Given the description of an element on the screen output the (x, y) to click on. 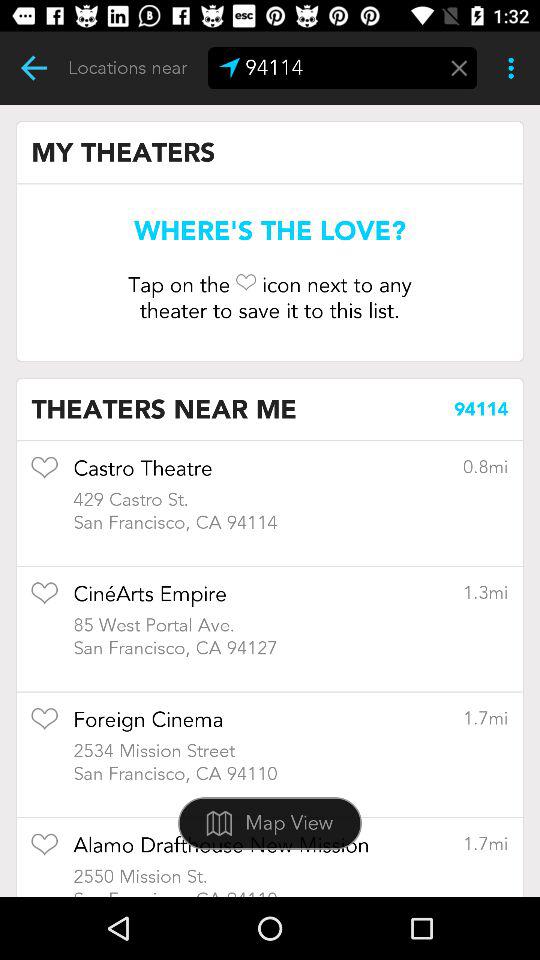
mark as favorite (44, 599)
